Given the description of an element on the screen output the (x, y) to click on. 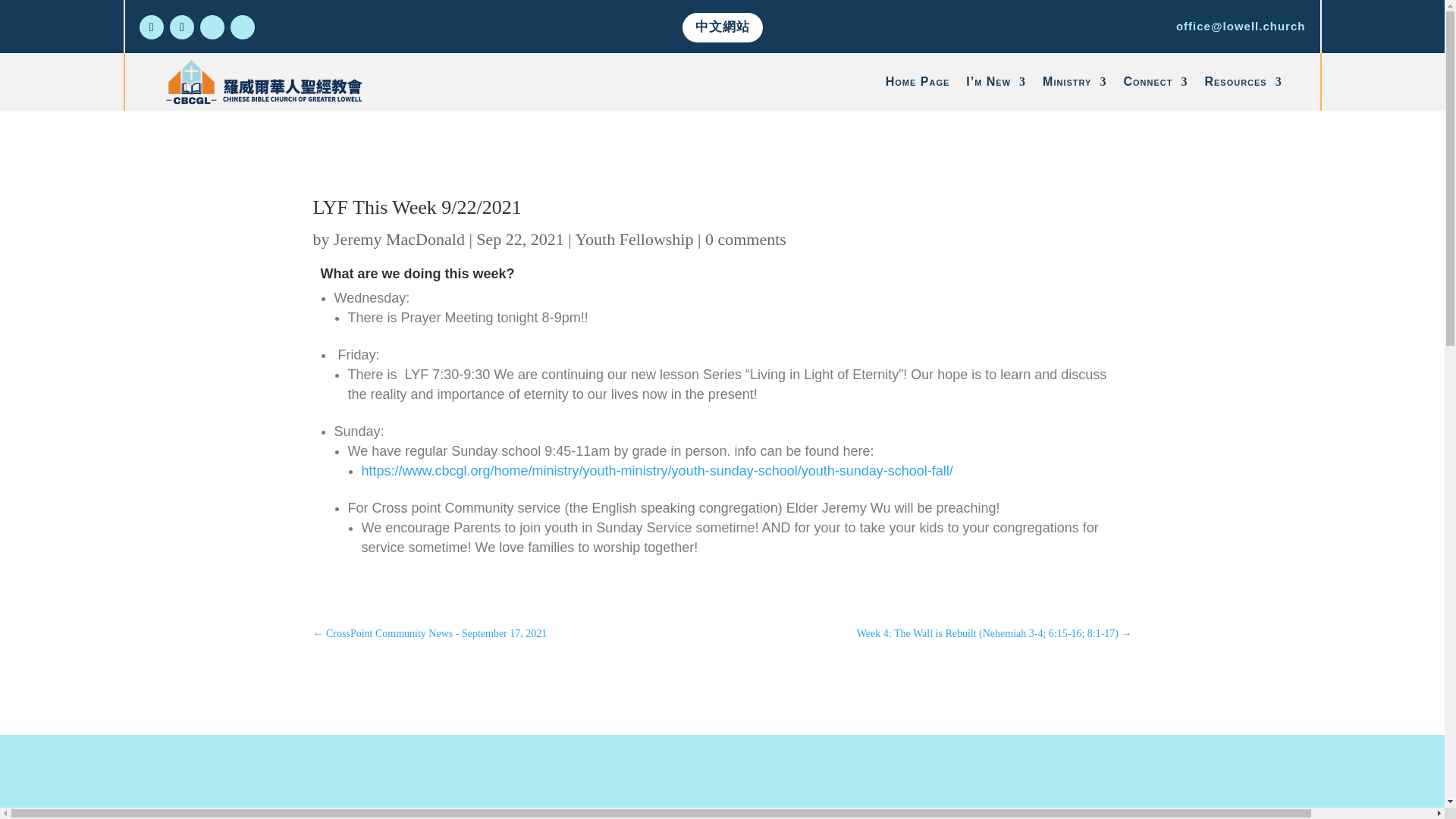
Follow on dbdb-microsoft (242, 27)
Follow on dbdb-wordpress (212, 27)
Follow on Youtube (181, 27)
Home Page (917, 81)
Follow on Facebook (151, 27)
Ministry (1074, 81)
Connect (1155, 81)
Posts by Jeremy MacDonald (398, 239)
